Given the description of an element on the screen output the (x, y) to click on. 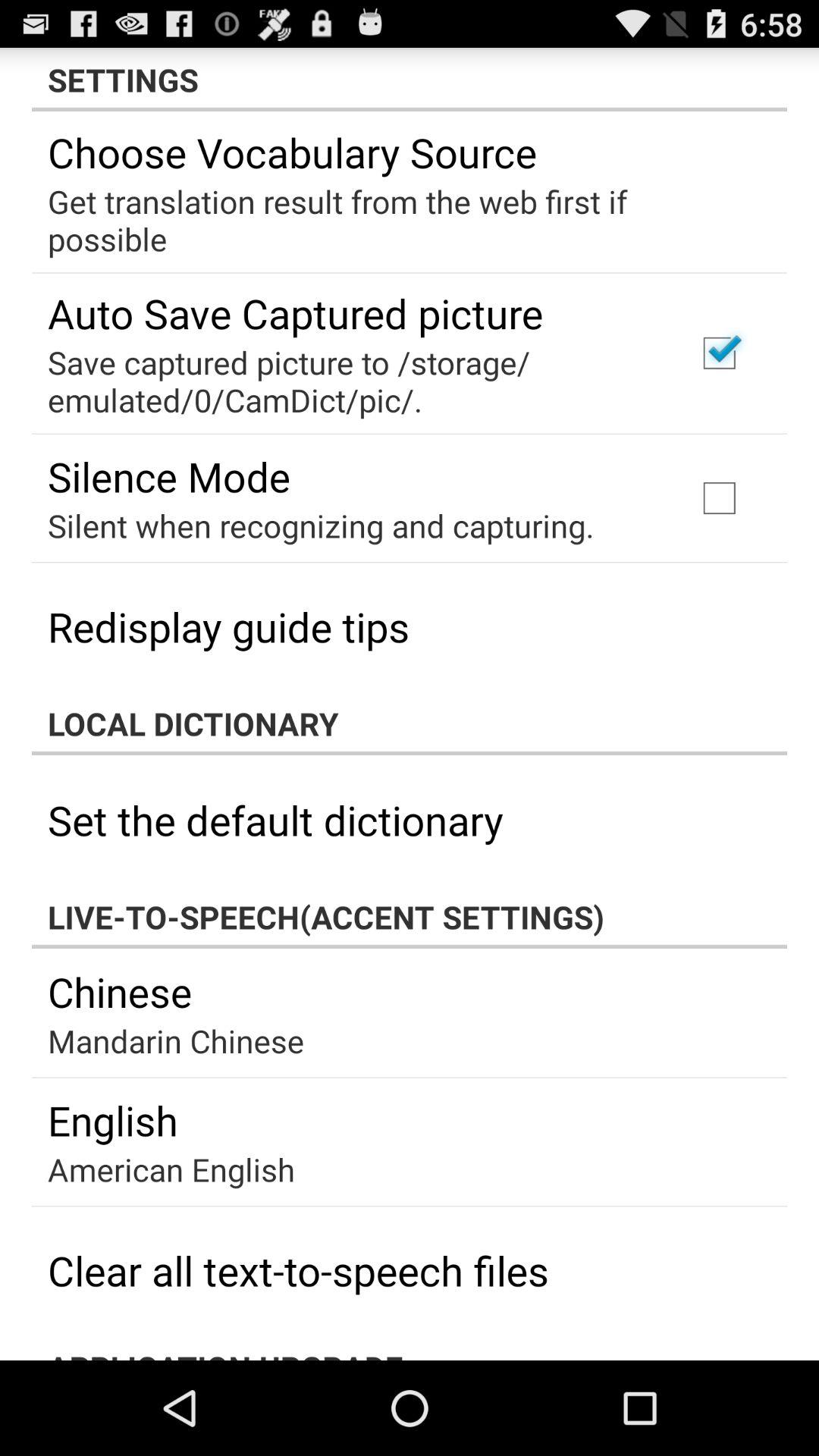
launch clear all text (297, 1269)
